Given the description of an element on the screen output the (x, y) to click on. 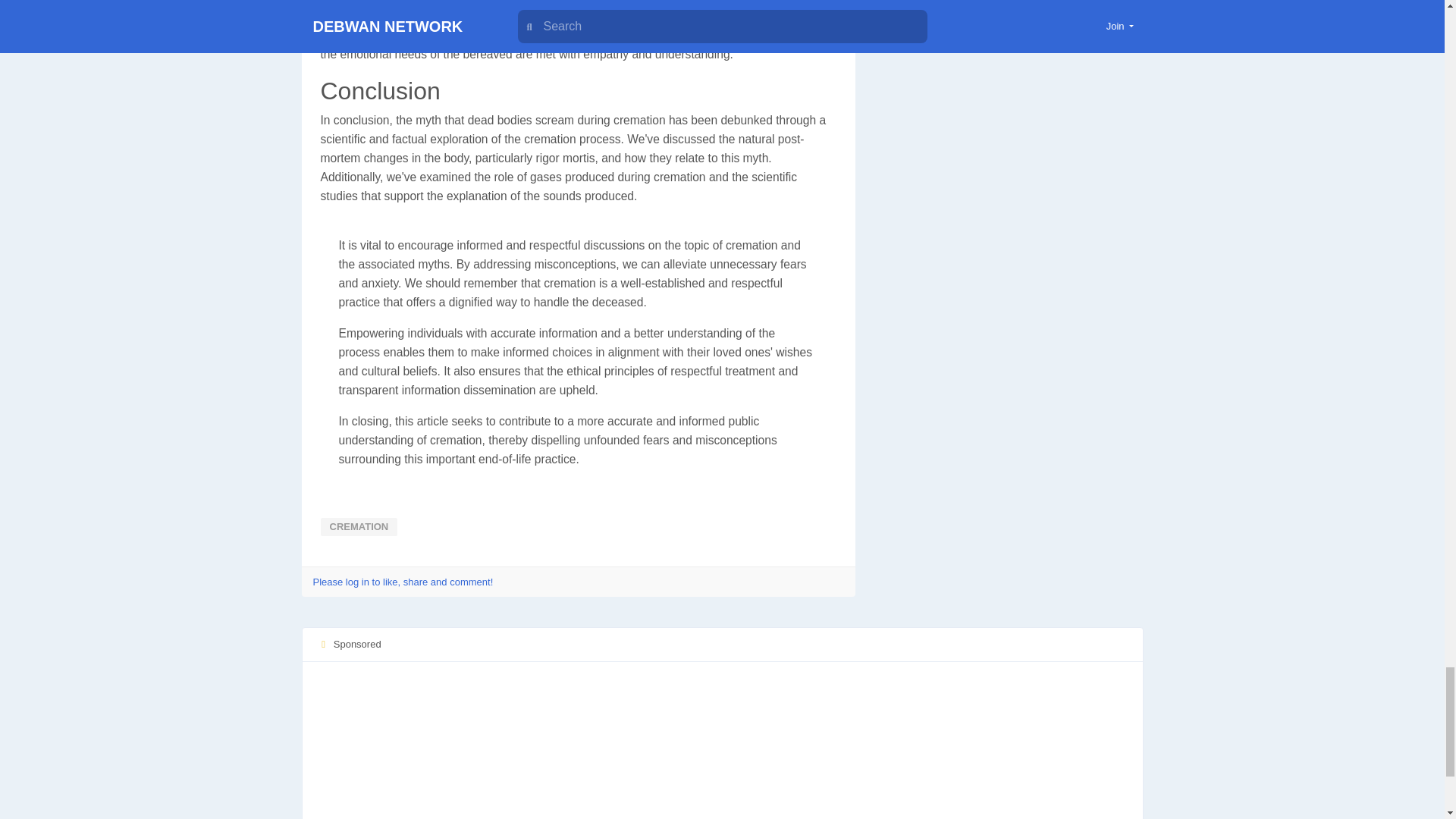
Please log in to like, share and comment! (403, 582)
CREMATION (358, 526)
